Given the description of an element on the screen output the (x, y) to click on. 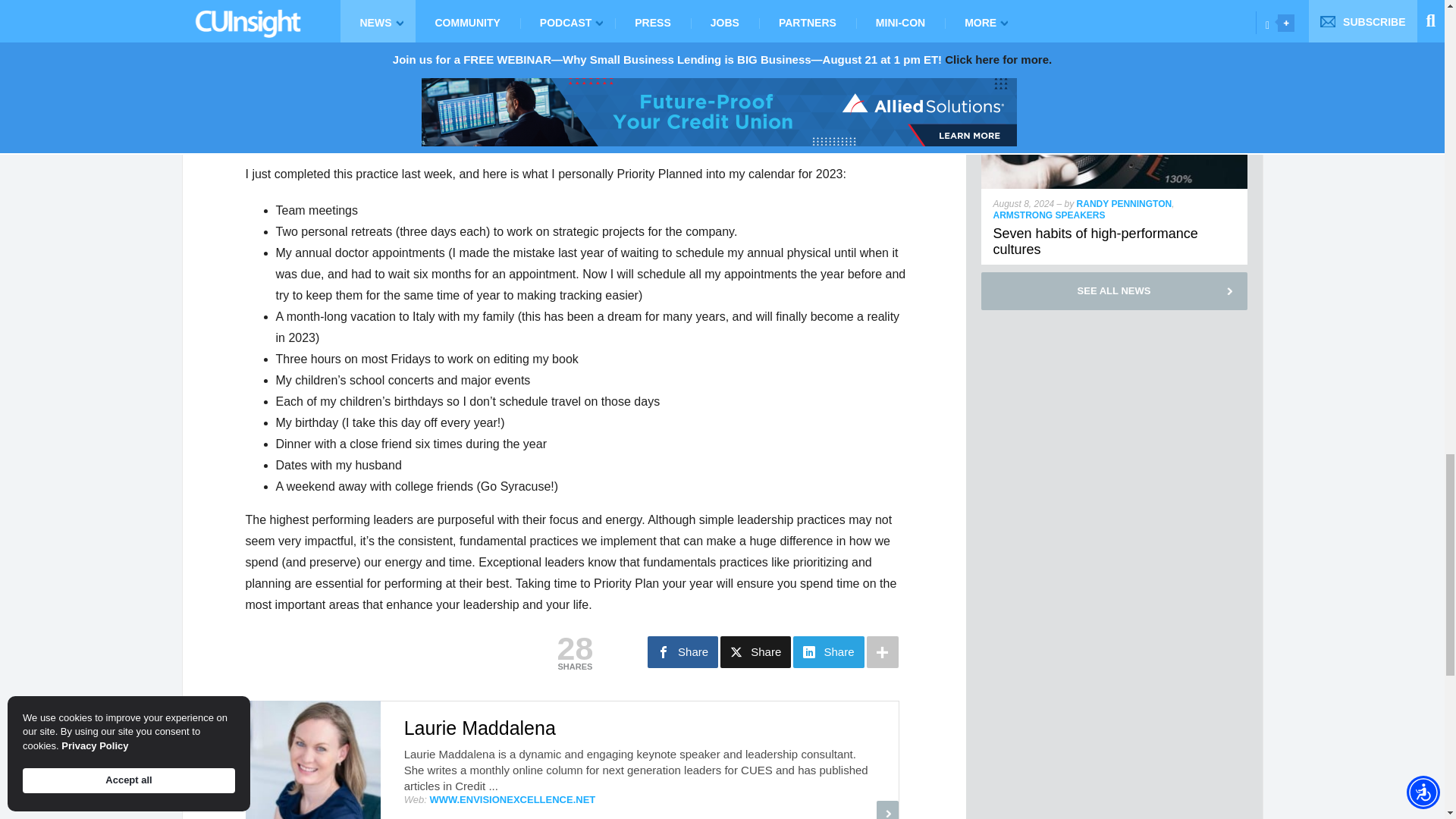
Seven habits of high-performance cultures (1095, 241)
Seven habits of high-performance cultures (1114, 69)
